Given the description of an element on the screen output the (x, y) to click on. 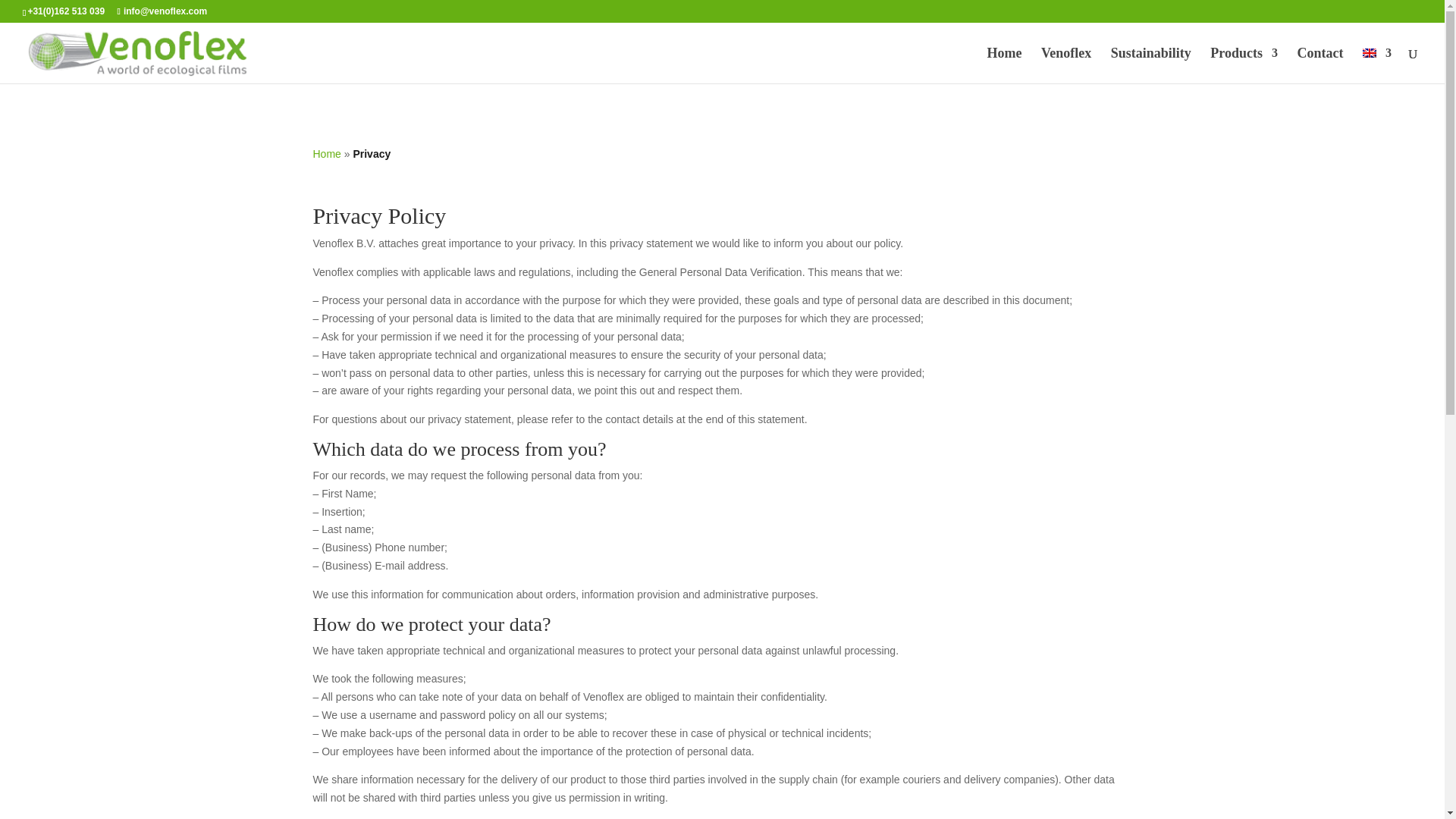
Home (326, 153)
Contact (1319, 65)
Venoflex (1065, 65)
Home (1004, 65)
Sustainability (1150, 65)
Products (1243, 65)
